Given the description of an element on the screen output the (x, y) to click on. 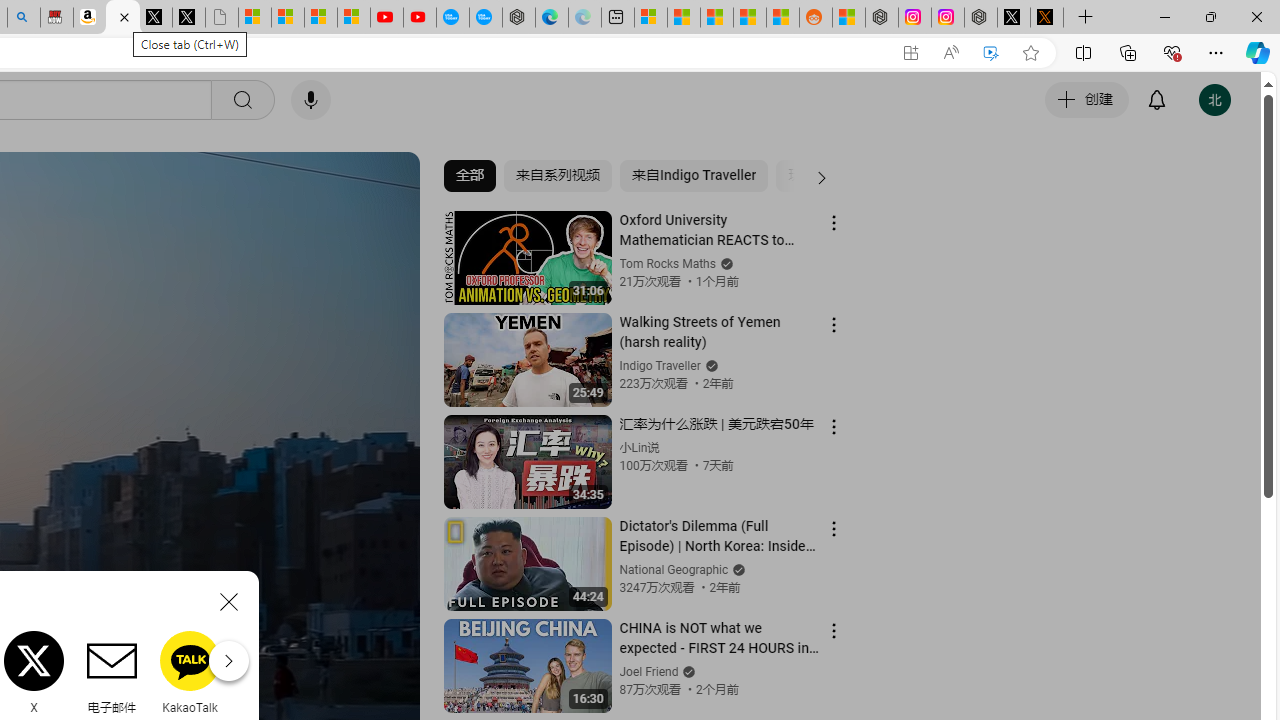
KakaoTalk (189, 672)
App available. Install YouTube (910, 53)
